Given the description of an element on the screen output the (x, y) to click on. 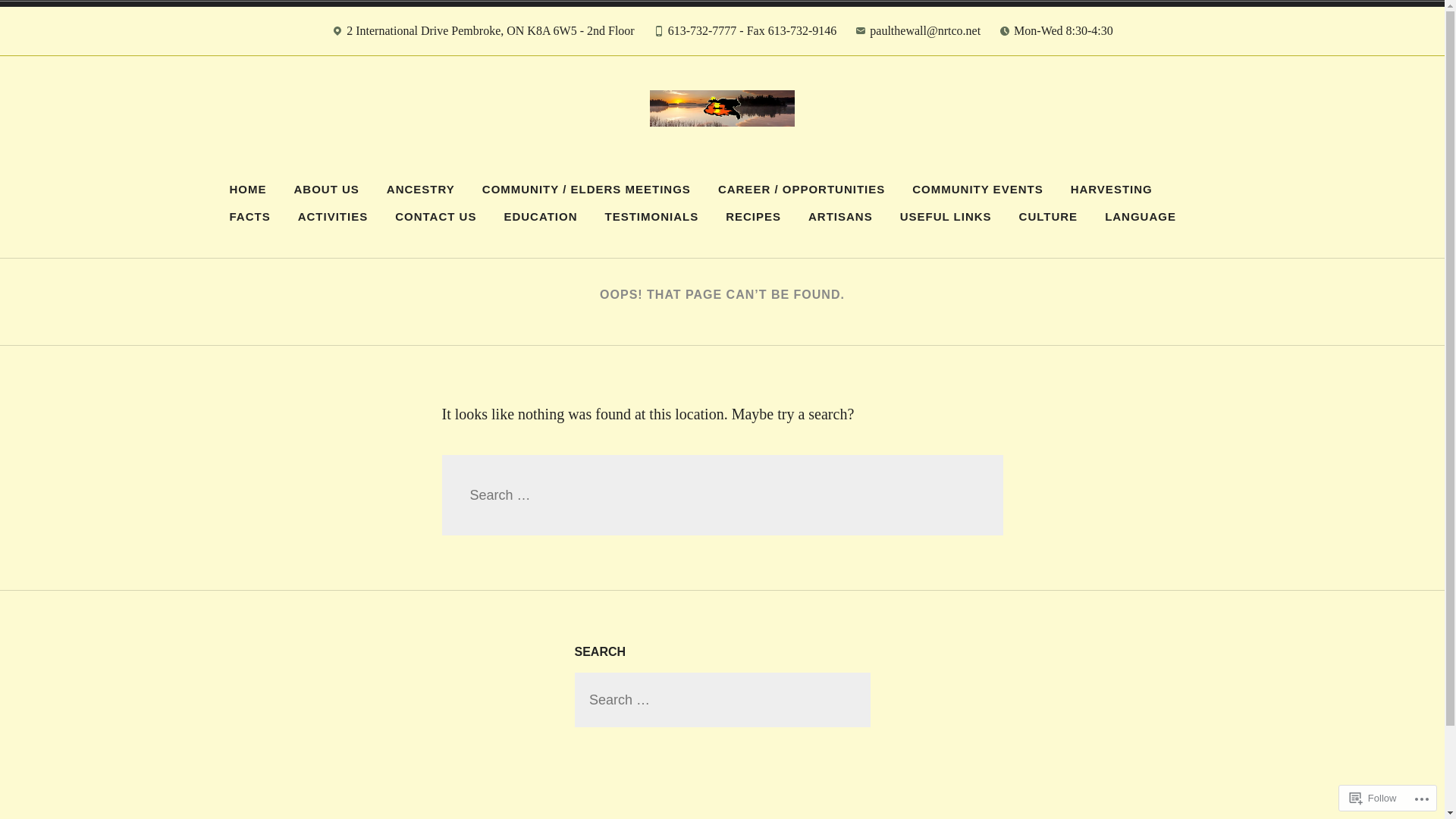
ABOUT US Element type: text (326, 189)
FACTS Element type: text (250, 216)
E-mail paulthewall@nrtco.net Element type: text (917, 34)
HARVESTING Element type: text (1111, 189)
Phone 613-732-7777 - Fax 613-732-9146 Element type: text (744, 34)
ANCESTRY Element type: text (420, 189)
HOME Element type: text (248, 189)
Follow Element type: text (1372, 797)
RECIPES Element type: text (753, 216)
CULTURE Element type: text (1048, 216)
CAREER / OPPORTUNITIES Element type: text (801, 189)
COMMUNITY EVENTS Element type: text (977, 189)
CONTACT US Element type: text (435, 216)
COMMUNITY / ELDERS MEETINGS Element type: text (586, 189)
EDUCATION Element type: text (540, 216)
Search Element type: text (30, 13)
Algonquins of Greater Golden Lake First Nation Element type: text (702, 171)
ARTISANS Element type: text (840, 216)
ACTIVITIES Element type: text (332, 216)
LANGUAGE Element type: text (1140, 216)
USEFUL LINKS Element type: text (945, 216)
TESTIMONIALS Element type: text (651, 216)
